Given the description of an element on the screen output the (x, y) to click on. 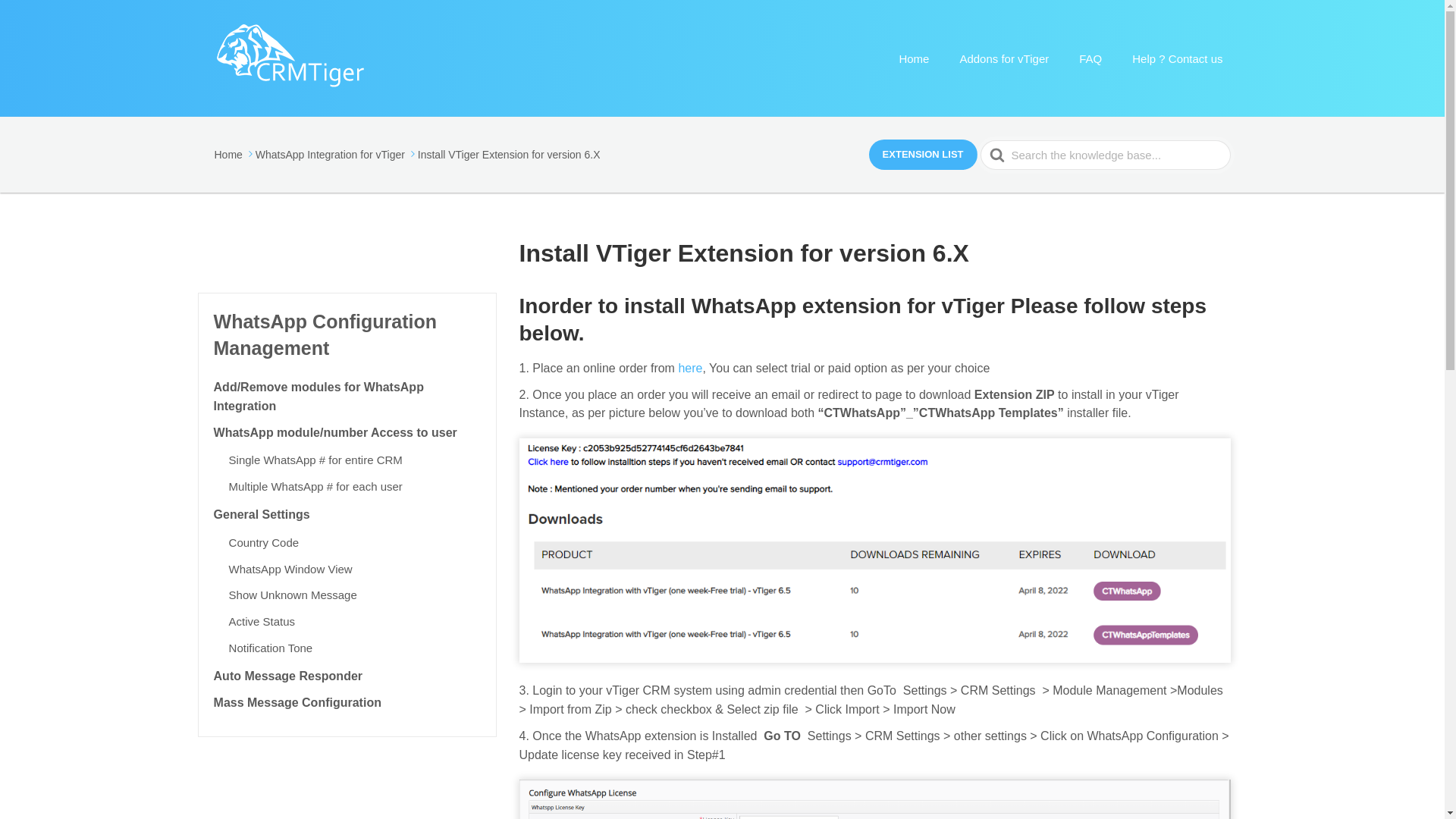
FAQ (1090, 58)
WhatsApp Window View (290, 568)
here (689, 367)
WhatsApp Integration for vTiger (336, 153)
Help ? Contact us (1177, 58)
Active Status (261, 621)
EXTENSION LIST (922, 154)
Mass Message Configuration (297, 702)
Show Unknown Message (292, 594)
Auto Message Responder (288, 675)
Country Code (263, 542)
Notification Tone (270, 647)
General Settings (262, 513)
Home (234, 153)
Home (913, 58)
